Given the description of an element on the screen output the (x, y) to click on. 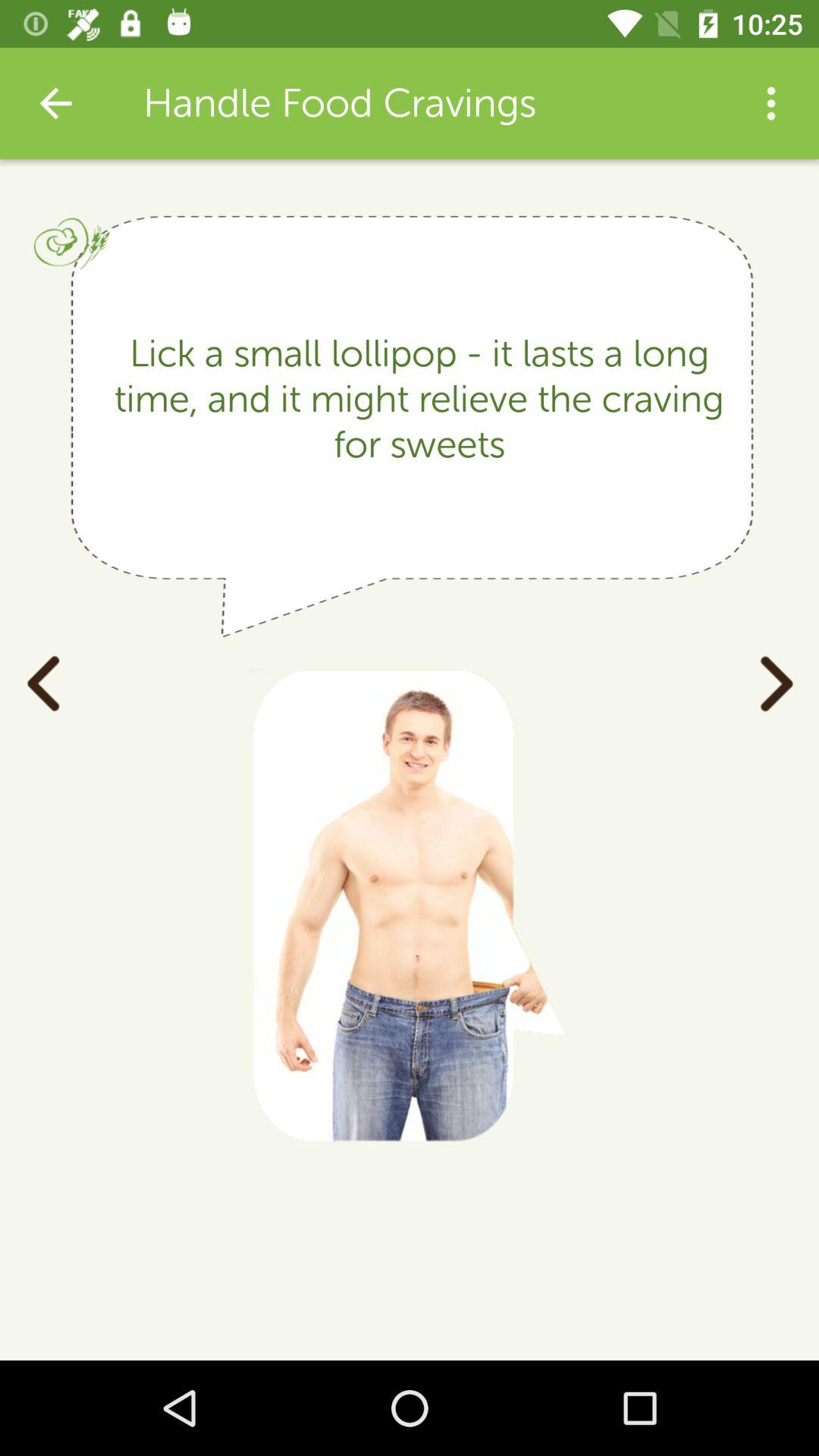
turn on item on the left (42, 682)
